Given the description of an element on the screen output the (x, y) to click on. 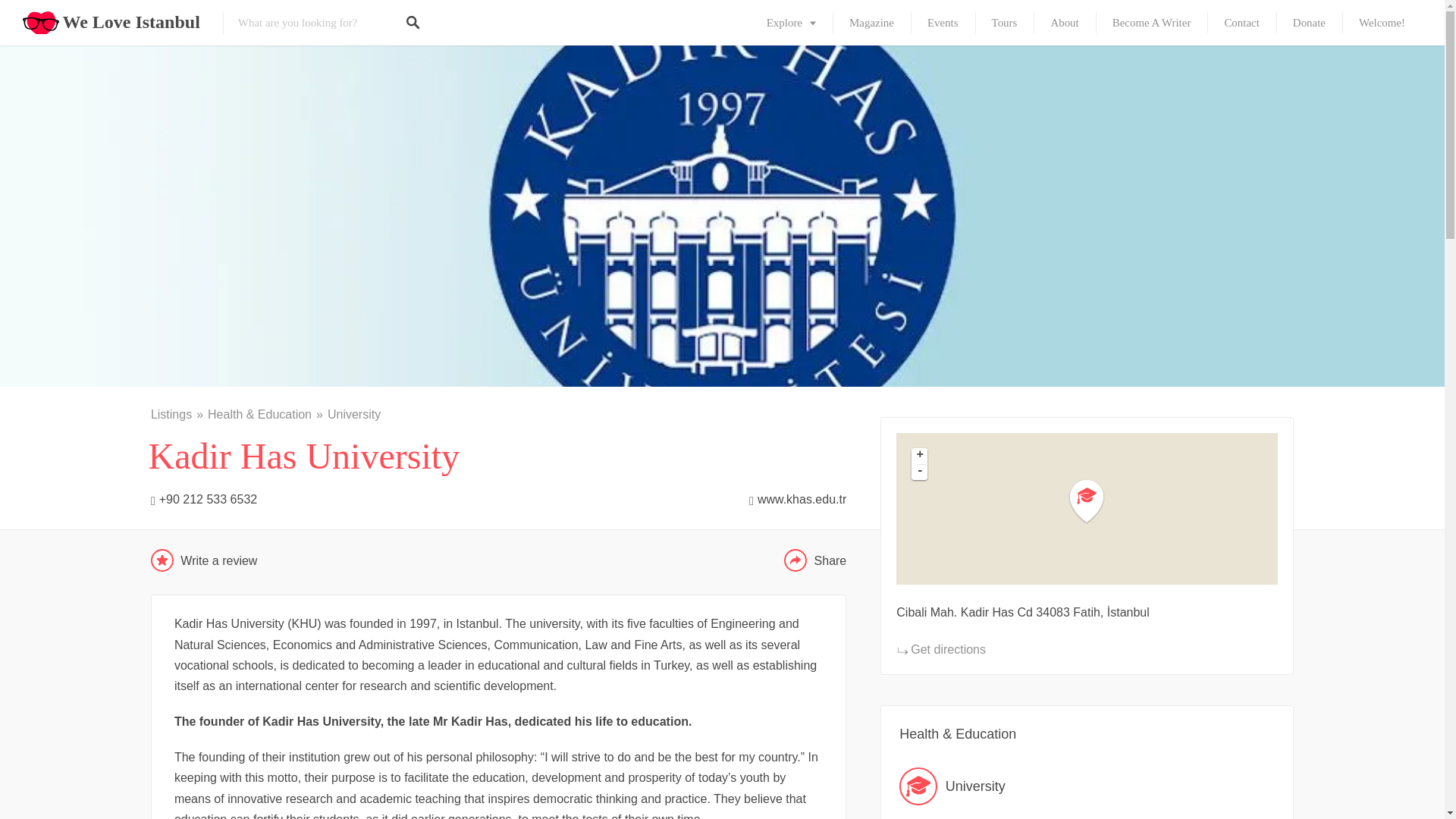
We Love Istanbul (130, 22)
Explore (790, 22)
Zoom in (919, 455)
